Given the description of an element on the screen output the (x, y) to click on. 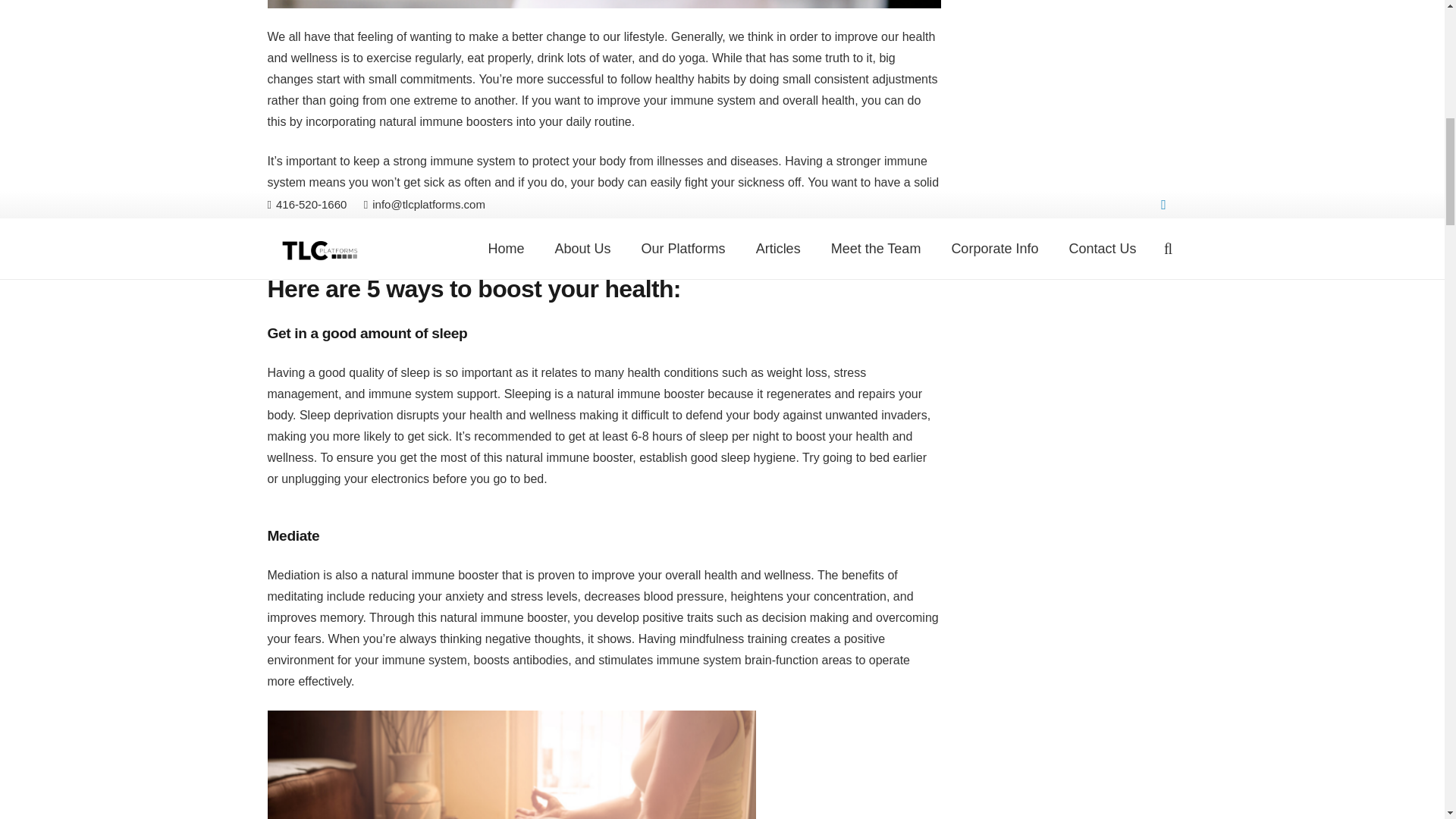
Back to top (1413, 30)
